Given the description of an element on the screen output the (x, y) to click on. 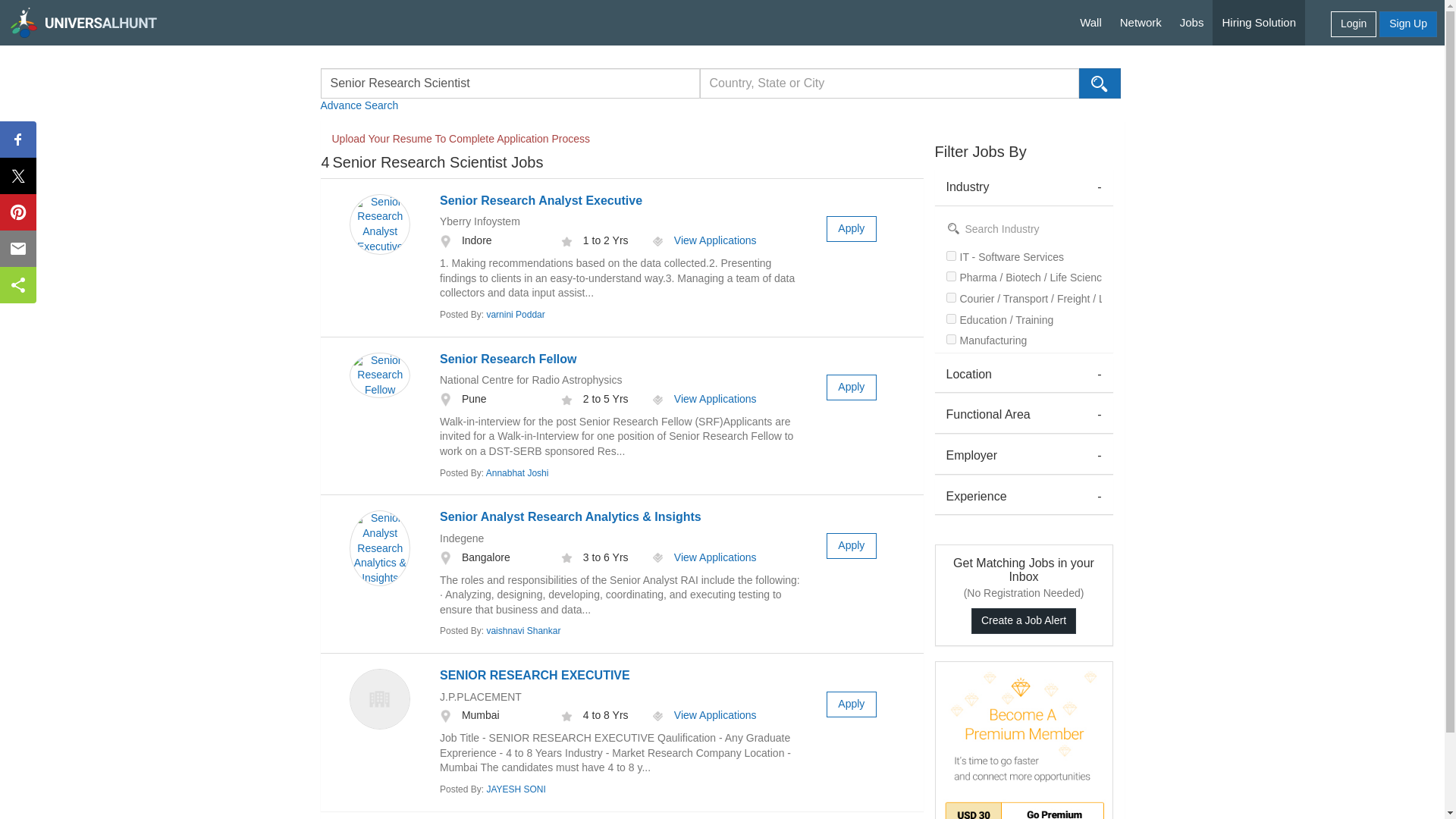
View Applications (704, 715)
Apply (851, 545)
Login (1352, 23)
J.P.PLACEMENT (480, 696)
Senior Research Analyst Executive (540, 200)
Login To Apply (851, 228)
Network (1140, 22)
Senior Research Fellow (507, 358)
Advance Search (358, 101)
38 (951, 297)
Hiring Solution (1258, 22)
SENIOR RESEARCH EXECUTIVE (534, 675)
Annabhat Joshi (517, 472)
View Applications (704, 398)
56 (951, 338)
